Given the description of an element on the screen output the (x, y) to click on. 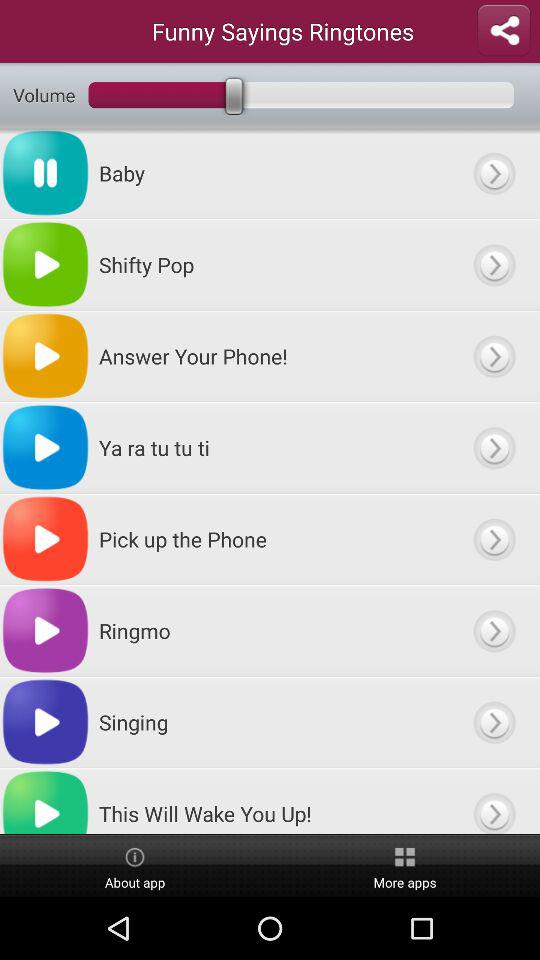
advance to the right (494, 801)
